Given the description of an element on the screen output the (x, y) to click on. 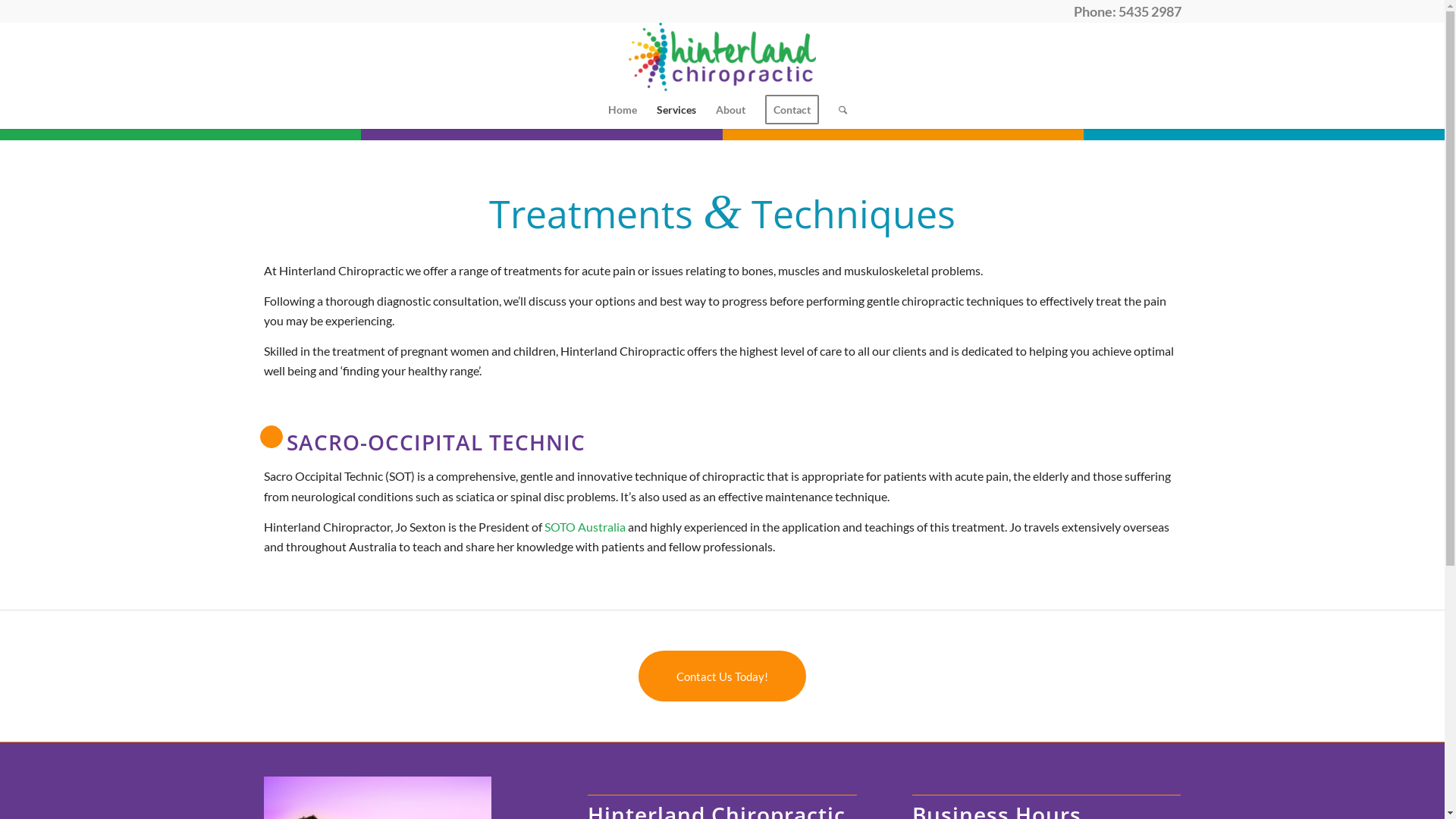
Contact Element type: text (791, 109)
Contact Us Today! Element type: text (722, 675)
Services Element type: text (675, 109)
Home Element type: text (621, 109)
SOTO Australia Element type: text (584, 525)
About Element type: text (729, 109)
